Given the description of an element on the screen output the (x, y) to click on. 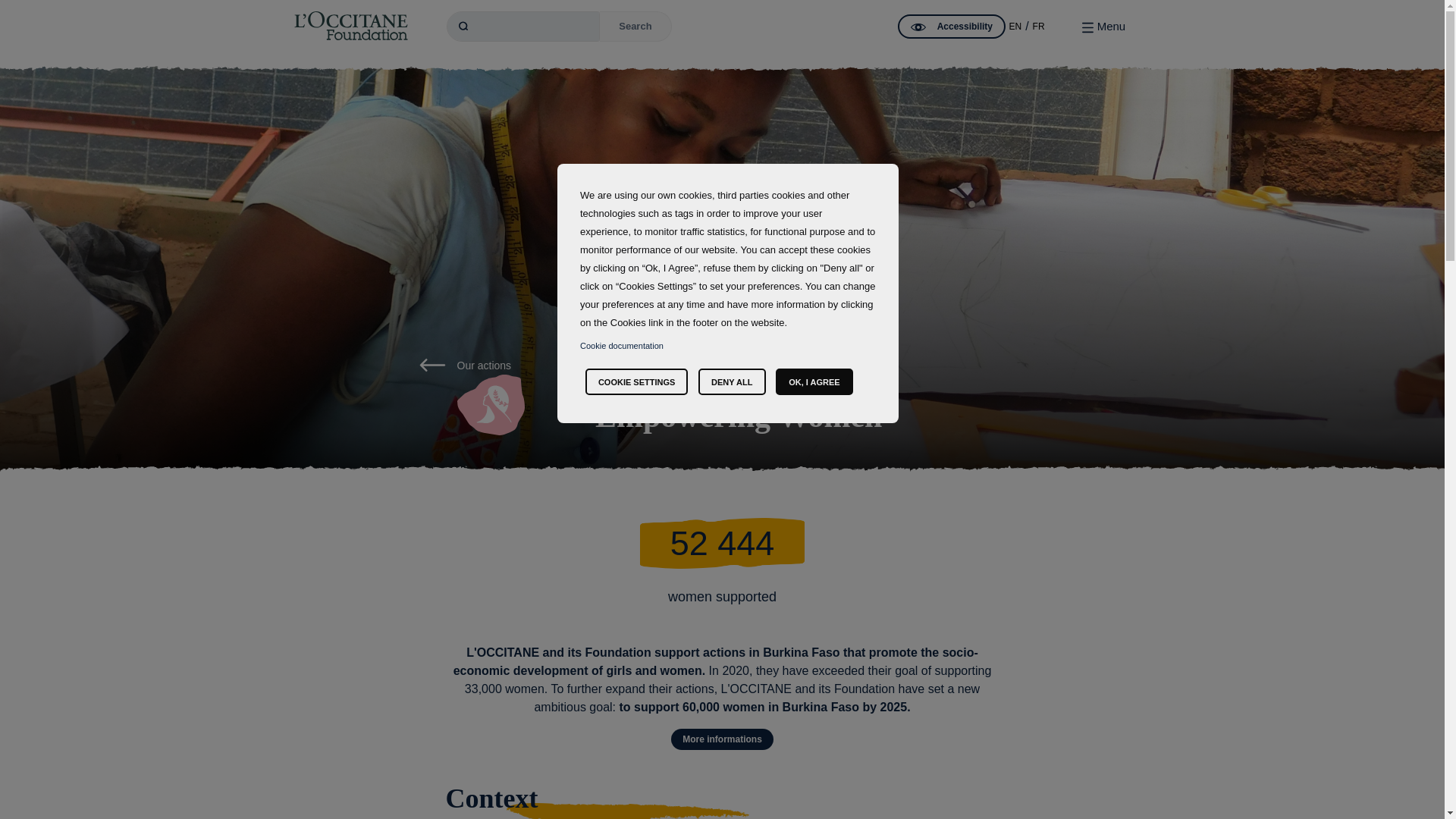
Back toOur actions (465, 365)
Search (635, 26)
Site search (522, 26)
More informations (722, 739)
FR (1038, 26)
DENY ALL (731, 381)
OK, I AGREE (813, 381)
L'OCCITANE Foundation - Back home (349, 25)
Cookie documentation (621, 345)
French version (1038, 26)
Submit site search (635, 26)
L'OCCITANE Foundation (349, 25)
Menu (1103, 25)
Accessibility (952, 26)
English version (1015, 26)
